Given the description of an element on the screen output the (x, y) to click on. 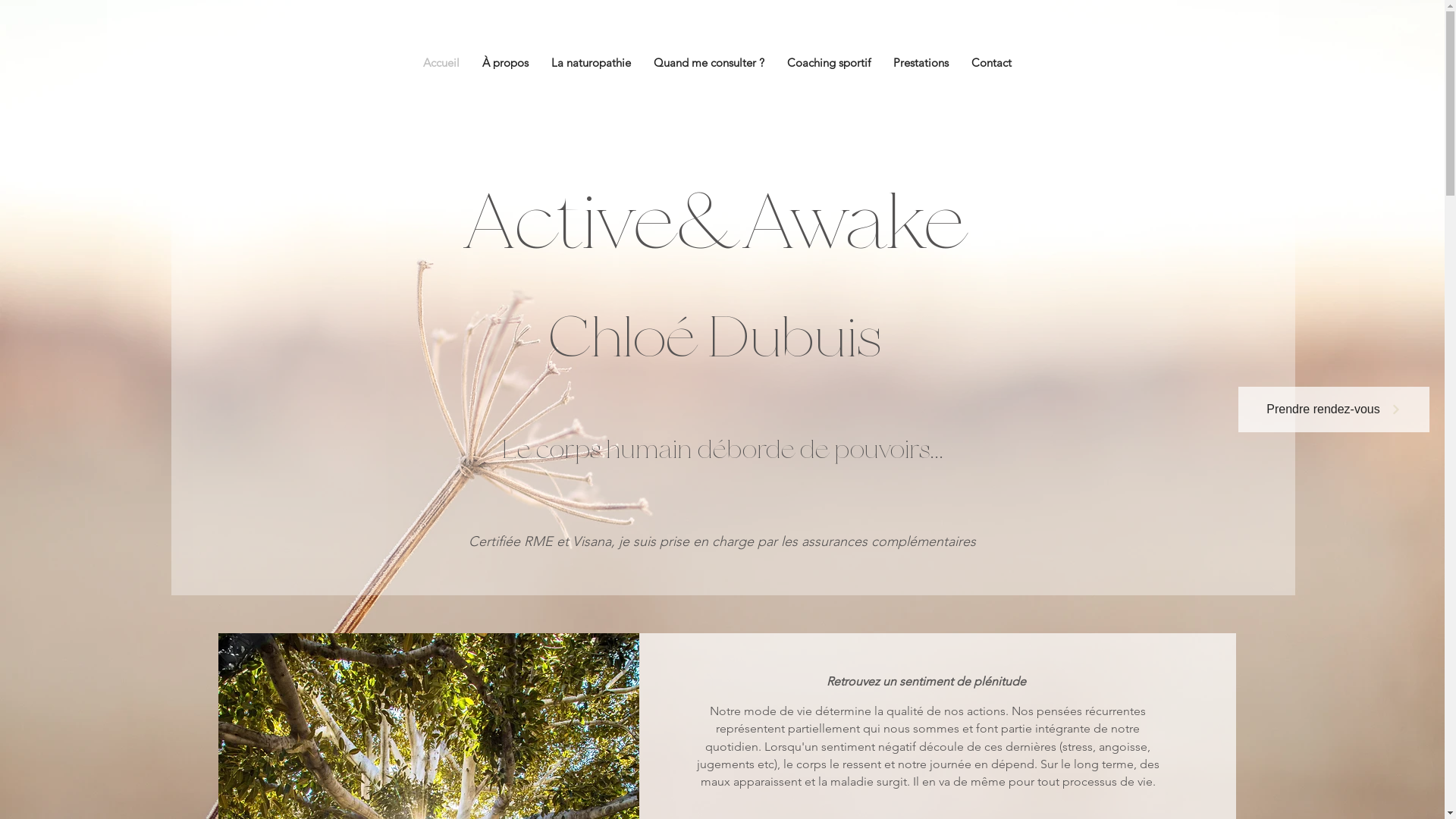
Coaching sportif Element type: text (828, 62)
La naturopathie Element type: text (590, 62)
Contact Element type: text (991, 62)
Active&Awake Element type: text (714, 227)
Prendre rendez-vous Element type: text (1333, 409)
Quand me consulter ? Element type: text (708, 62)
Prestations Element type: text (920, 62)
Accueil Element type: text (440, 62)
